Given the description of an element on the screen output the (x, y) to click on. 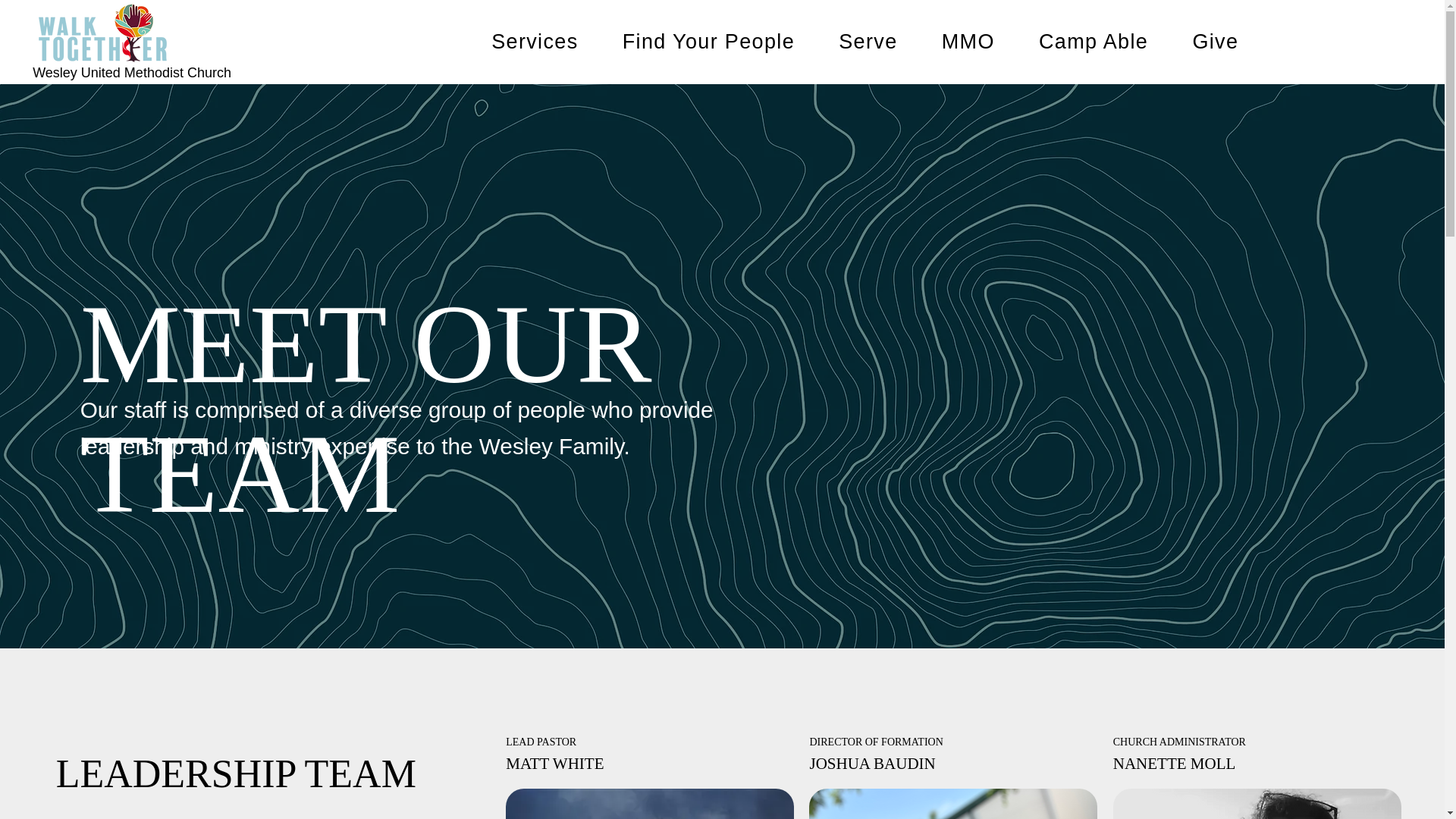
Give (1215, 41)
Wesley United Methodist Church (131, 72)
MMO (968, 41)
Find Your People (707, 41)
Services (533, 41)
Serve (868, 41)
Camp Able (864, 41)
